Given the description of an element on the screen output the (x, y) to click on. 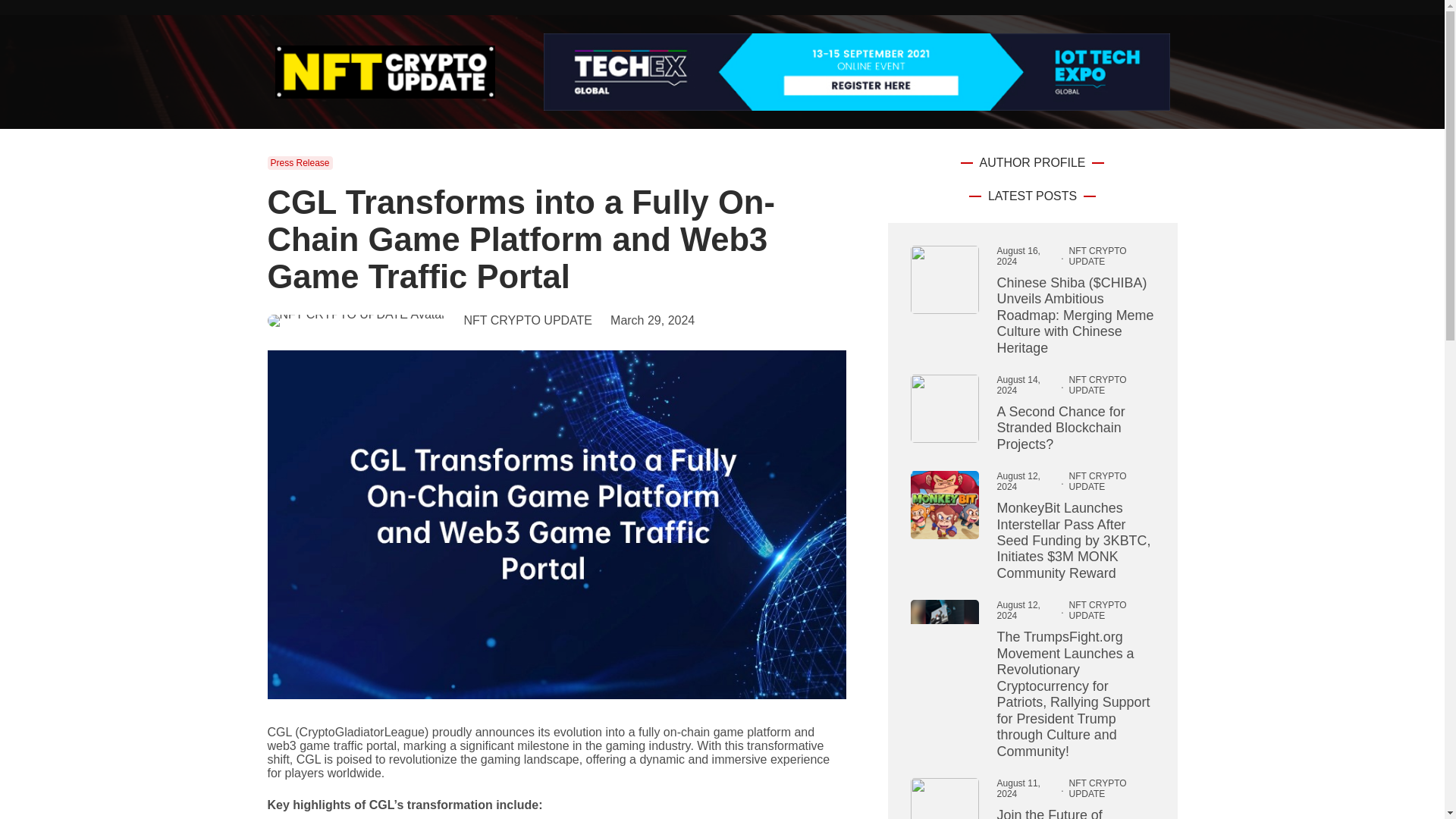
Press Release (298, 162)
A Second Chance for Stranded Blockchain Projects? (1075, 428)
